Given the description of an element on the screen output the (x, y) to click on. 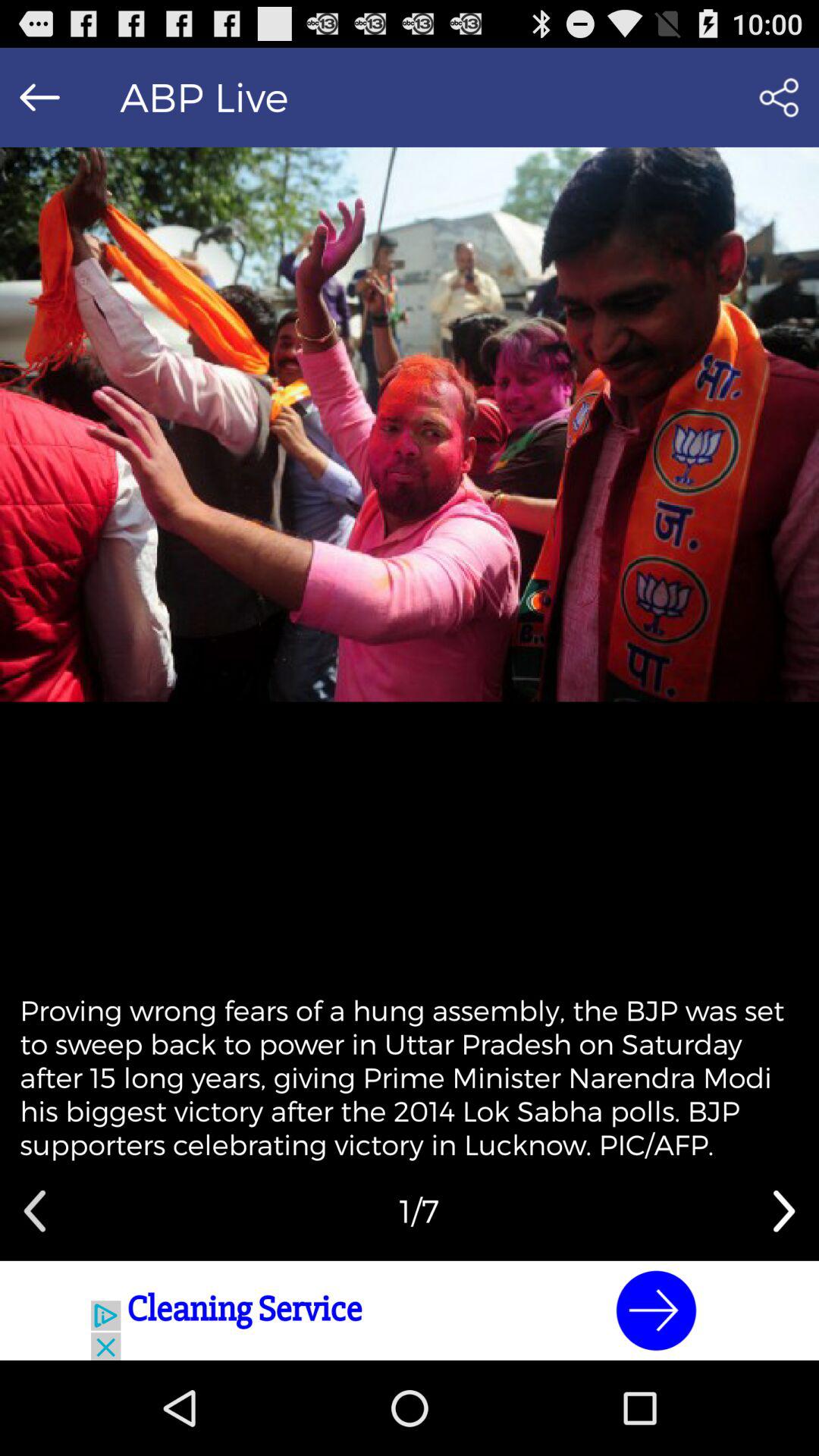
go to next slider (784, 1211)
